Given the description of an element on the screen output the (x, y) to click on. 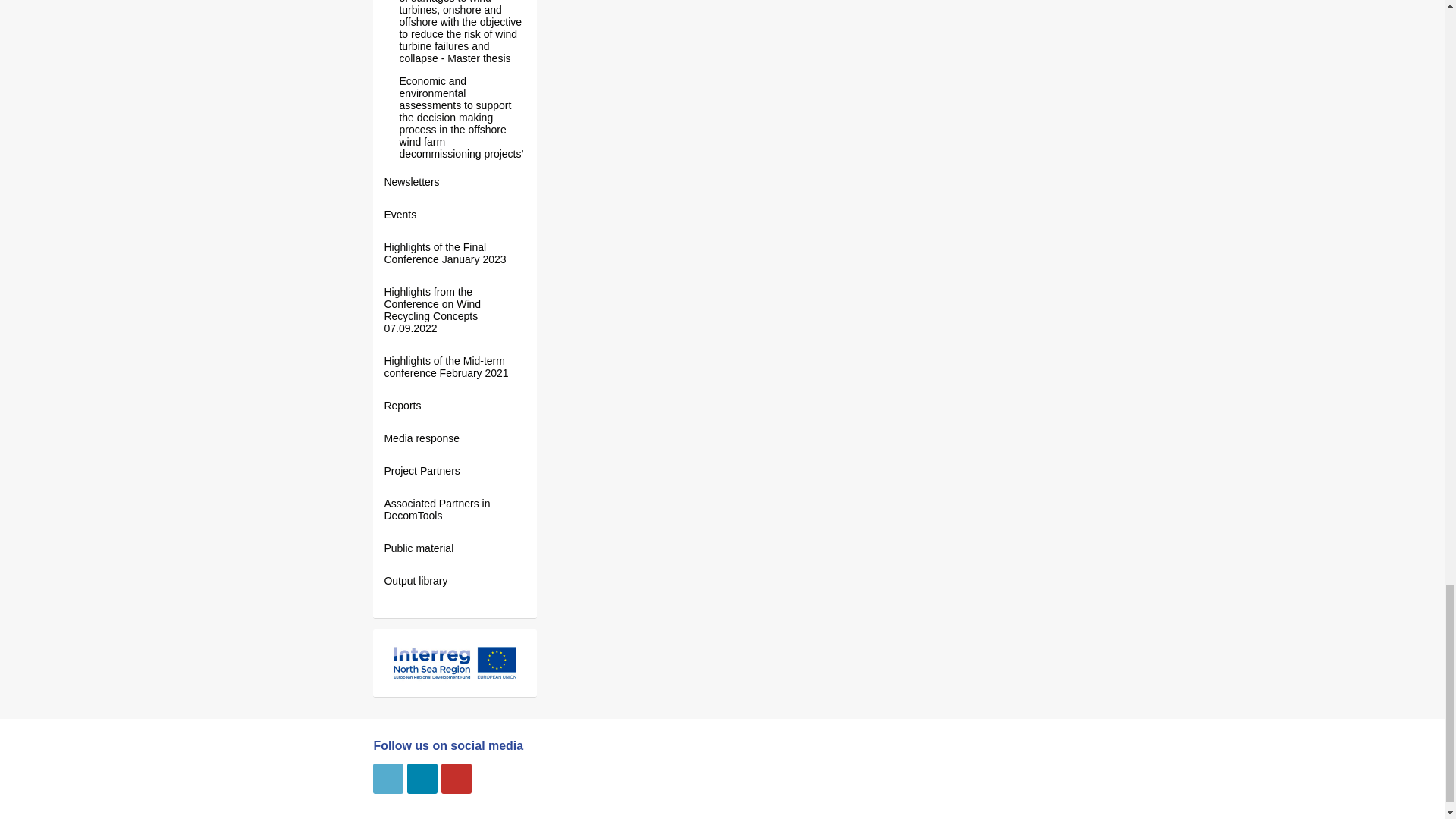
Twitter (387, 778)
LinkedIn (422, 778)
Youtube (456, 778)
